Given the description of an element on the screen output the (x, y) to click on. 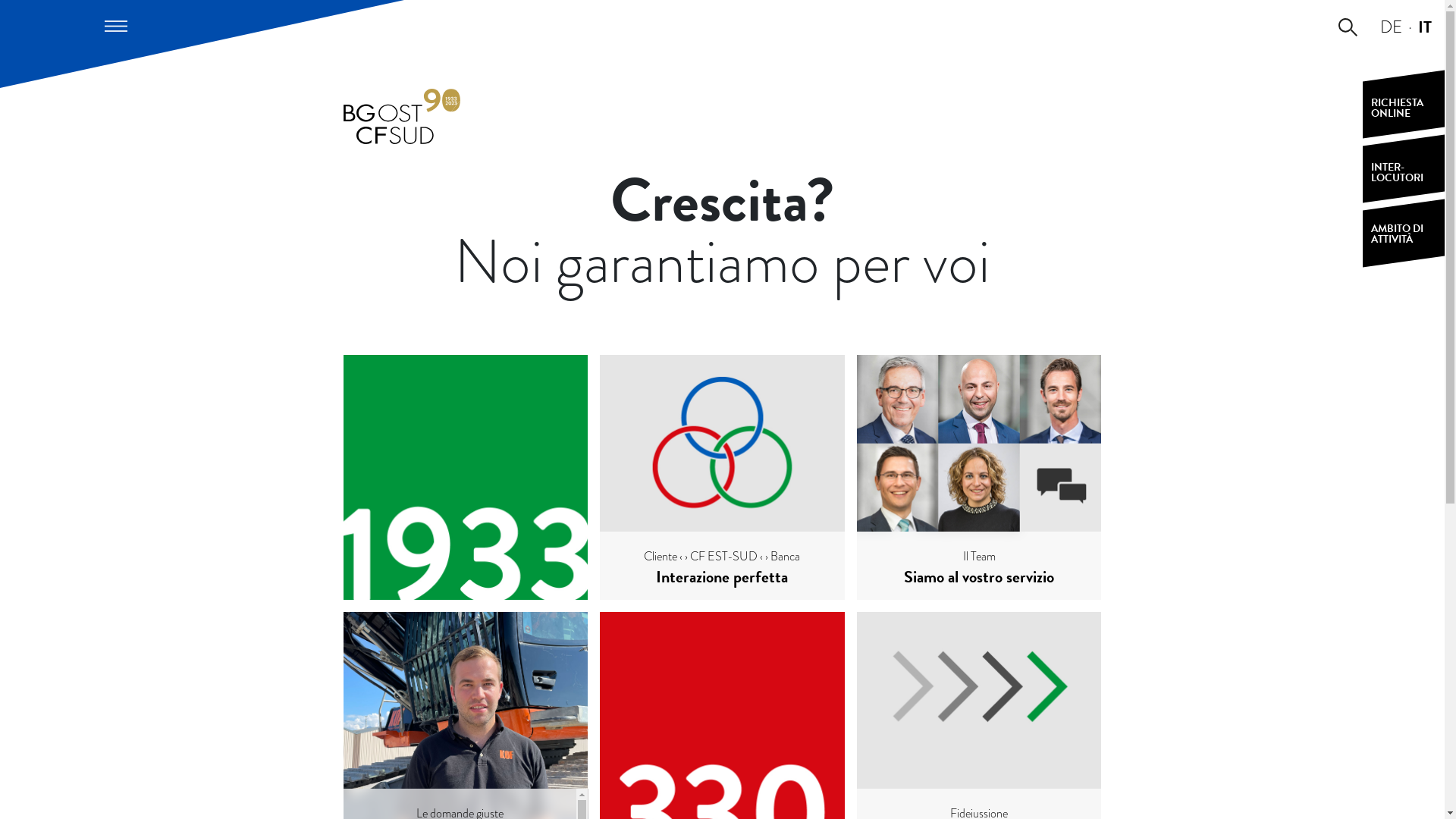
IT Element type: text (1424, 26)
INTER-
LOCUTORI Element type: text (1403, 168)
Il Team
Siamo al vostro servizio Element type: text (978, 476)
RICHIESTA ONLINE Element type: text (1403, 103)
DE Element type: text (1391, 26)
